Given the description of an element on the screen output the (x, y) to click on. 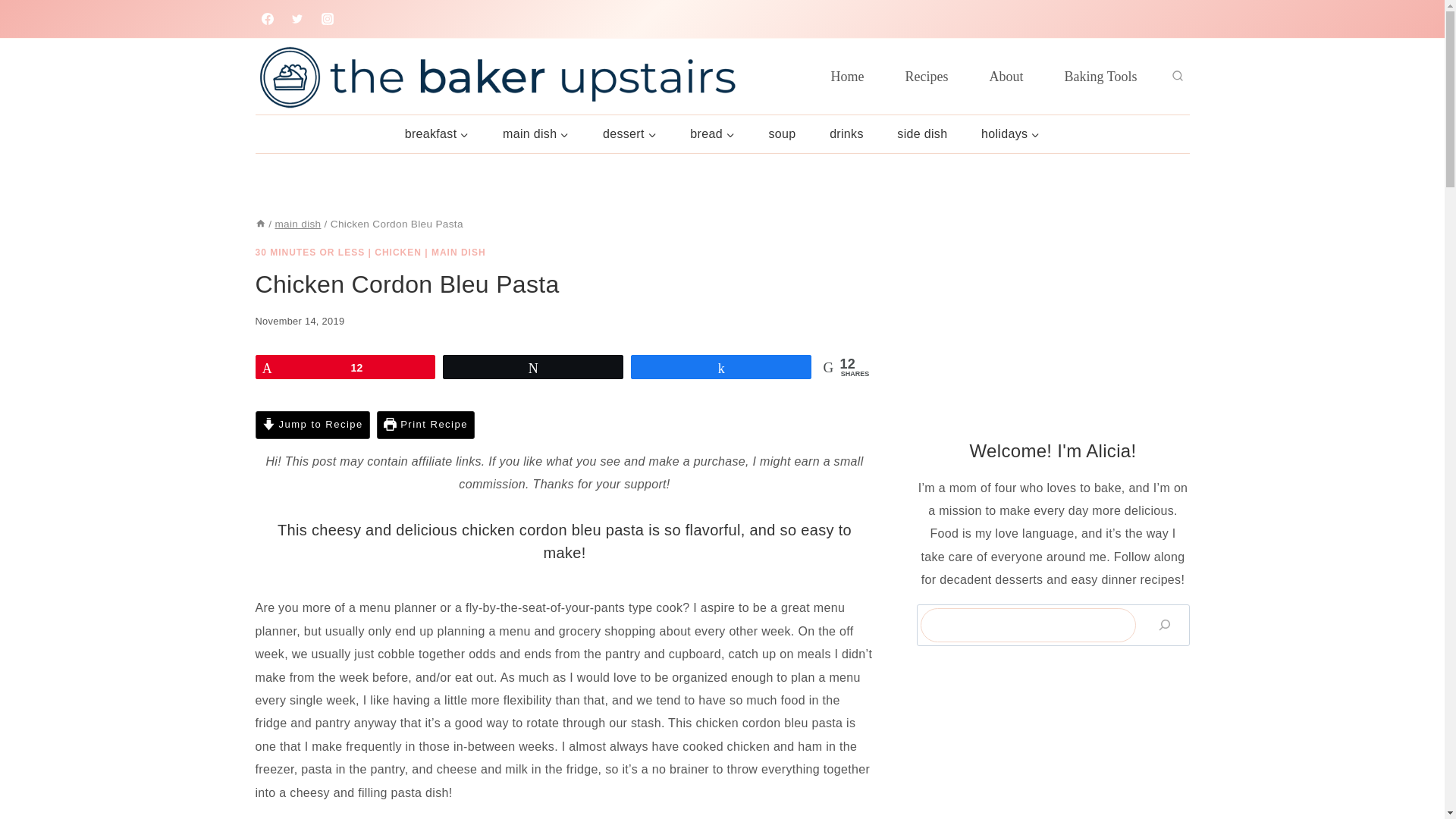
Baking Tools (1100, 76)
Home (847, 76)
soup (781, 134)
Home (259, 224)
dessert (629, 134)
Recipes (927, 76)
About (1006, 76)
main dish (536, 134)
holidays (1010, 134)
breakfast (435, 134)
